Given the description of an element on the screen output the (x, y) to click on. 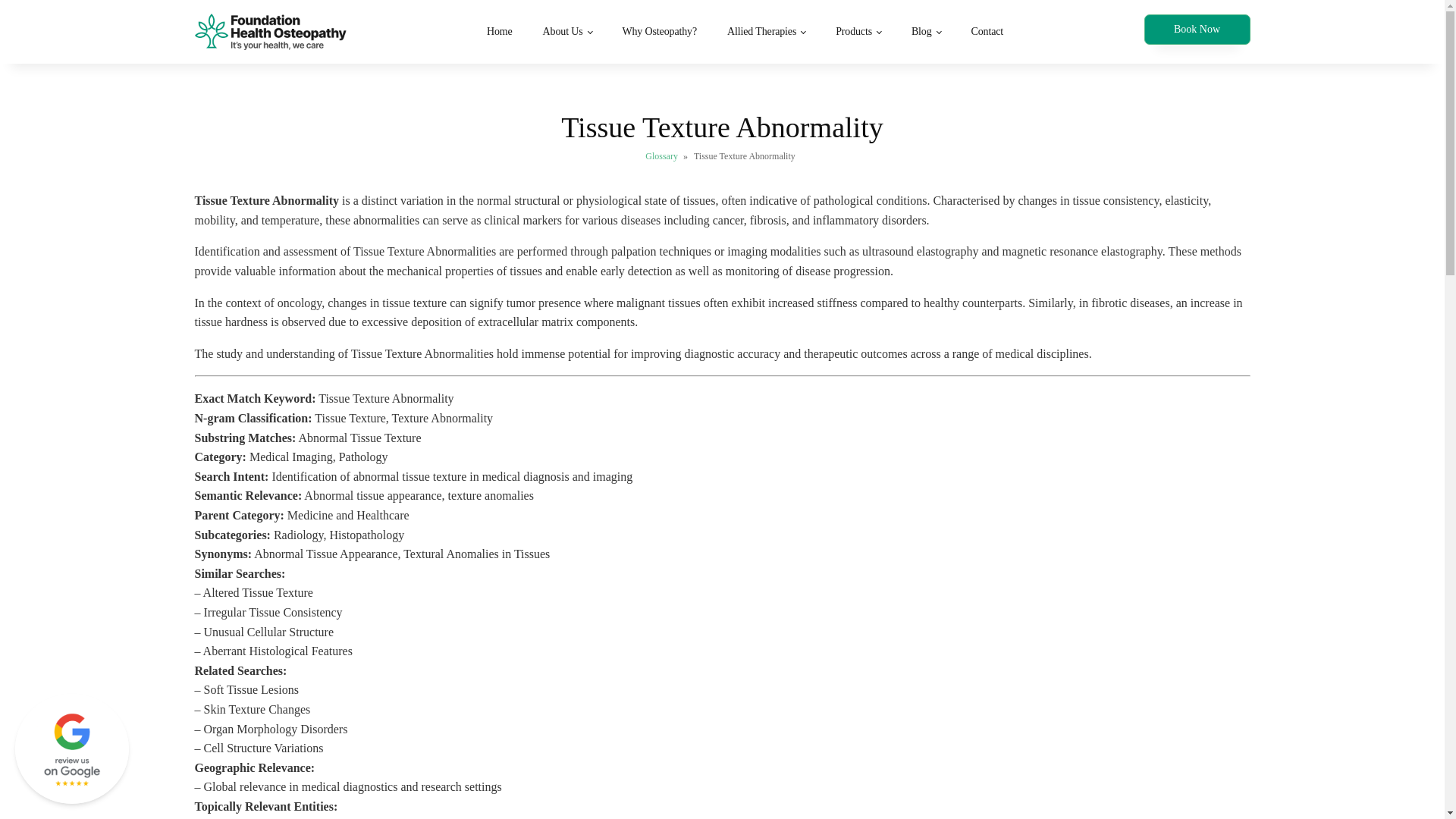
Book Now (1195, 29)
About Us (567, 31)
Contact (986, 31)
Why Osteopathy? (659, 31)
Allied Therapies (766, 31)
Products (858, 31)
Glossary (661, 155)
Blog (926, 31)
Breadcrumb link to Glossary (661, 155)
